Given the description of an element on the screen output the (x, y) to click on. 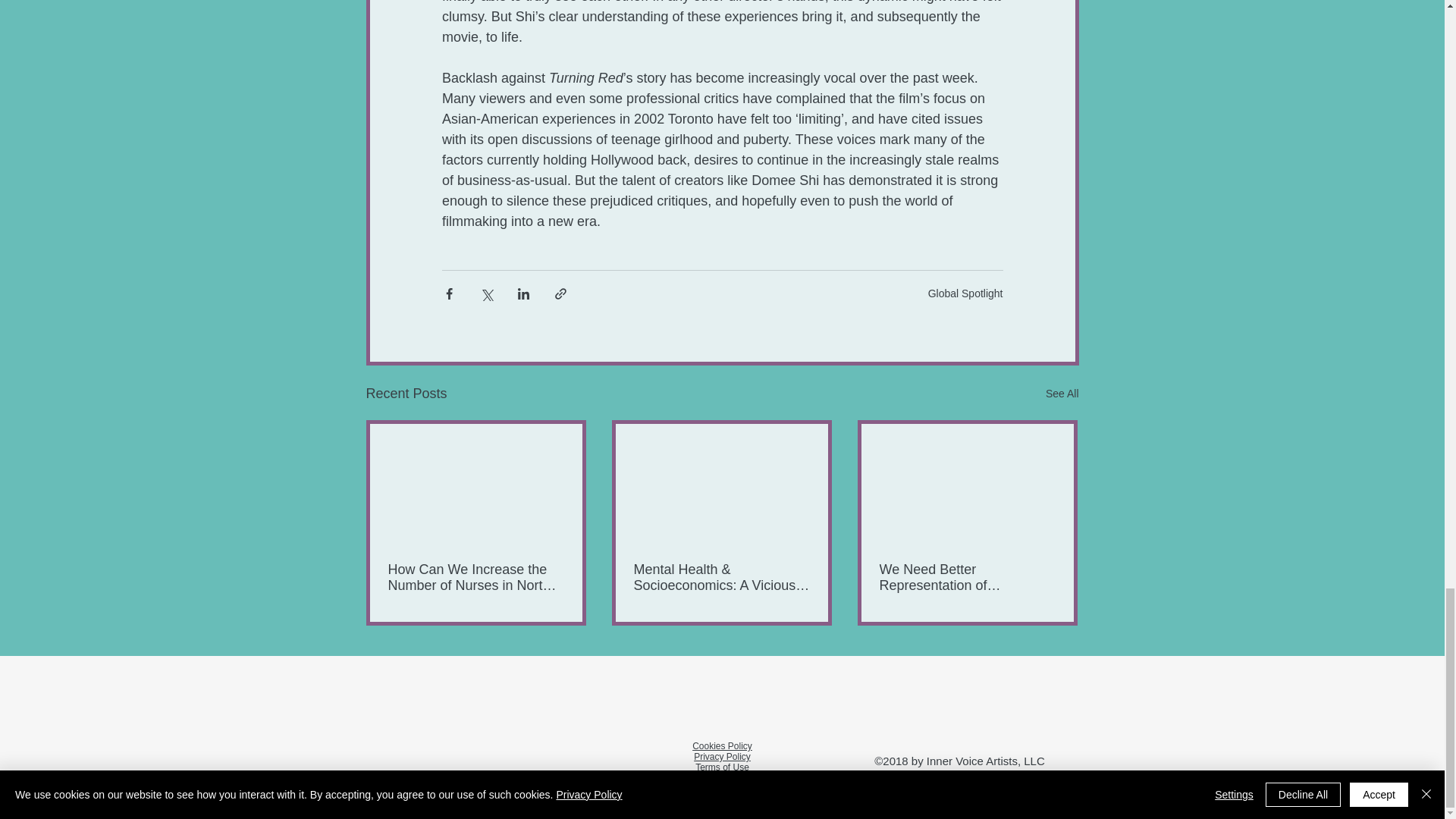
How Can We Increase the Number of Nurses in North America? (476, 577)
Global Spotlight (965, 293)
See All (1061, 393)
Cookies Policy (722, 746)
Privacy Policy (722, 756)
Terms of Use (722, 767)
We Need Better Representation of Psychotherapy on Screen (967, 577)
